Given the description of an element on the screen output the (x, y) to click on. 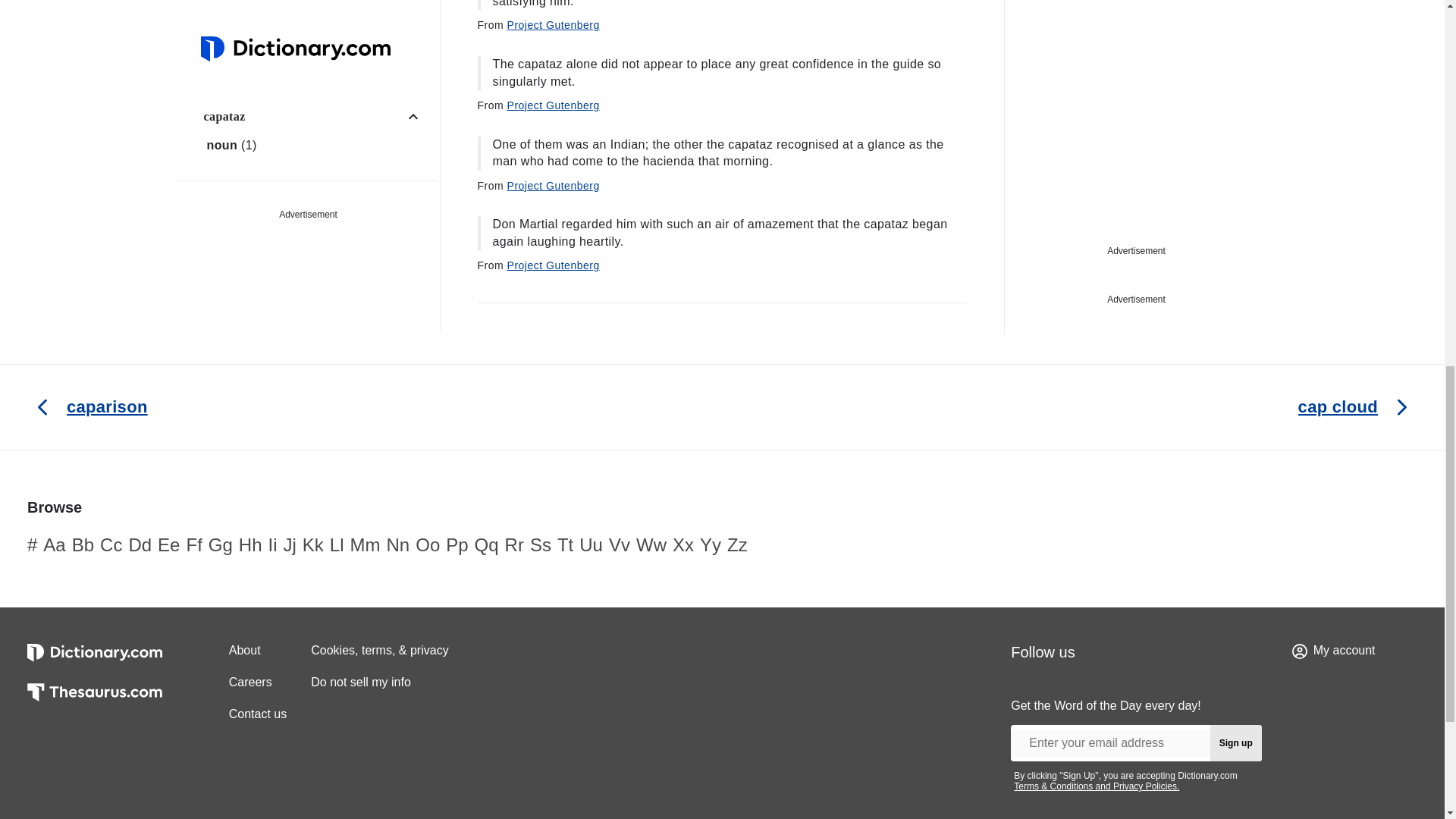
Project Gutenberg (552, 24)
Project Gutenberg (552, 265)
Project Gutenberg (552, 105)
Project Gutenberg (552, 185)
